Given the description of an element on the screen output the (x, y) to click on. 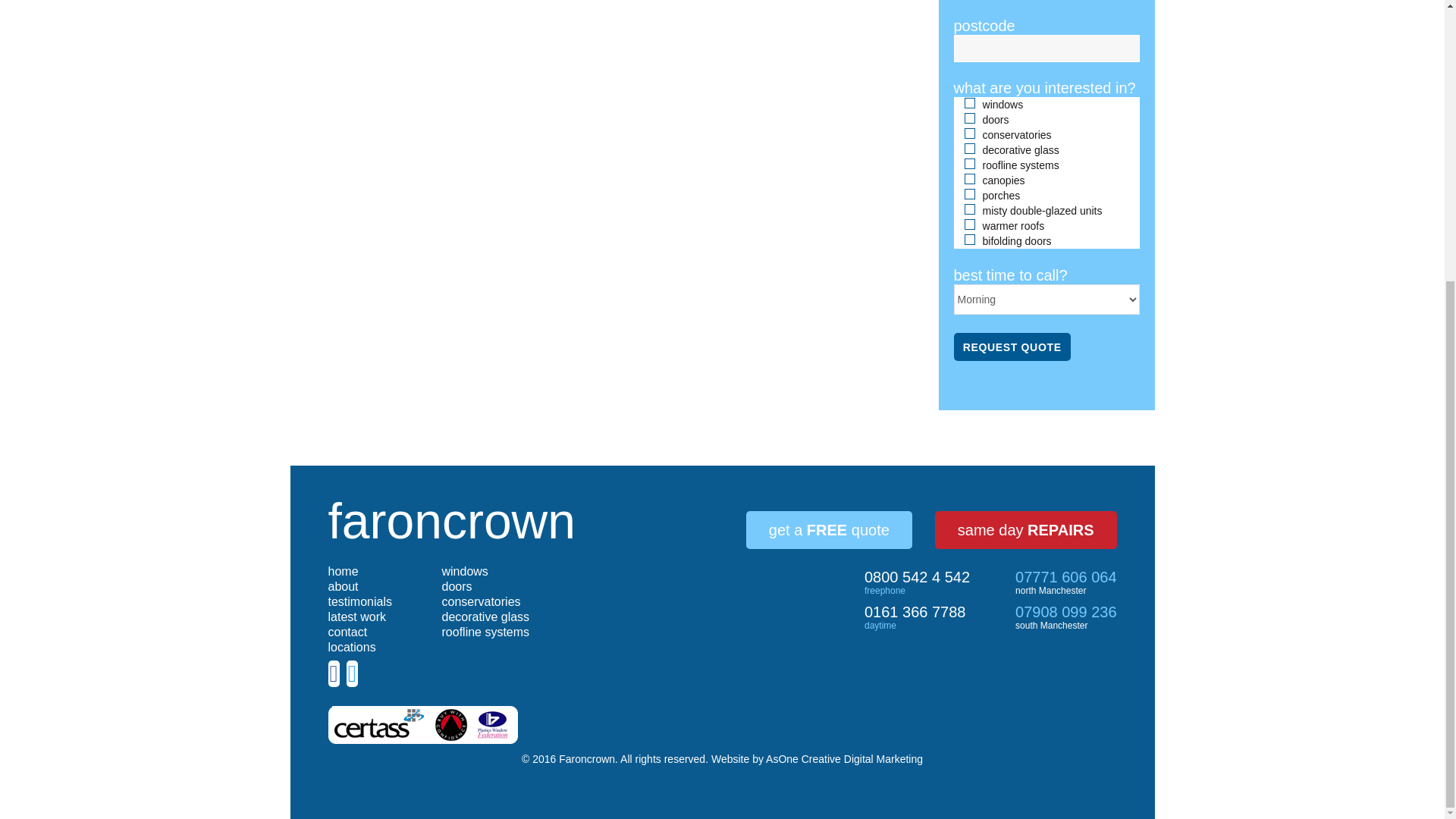
warmer roofs (969, 224)
misty double-glazed units (969, 208)
roofline systems (969, 163)
request quote (1011, 346)
bifolding doors (969, 239)
canopies (969, 178)
porches (969, 194)
windows (969, 102)
doors (969, 118)
decorative glass (969, 148)
